Given the description of an element on the screen output the (x, y) to click on. 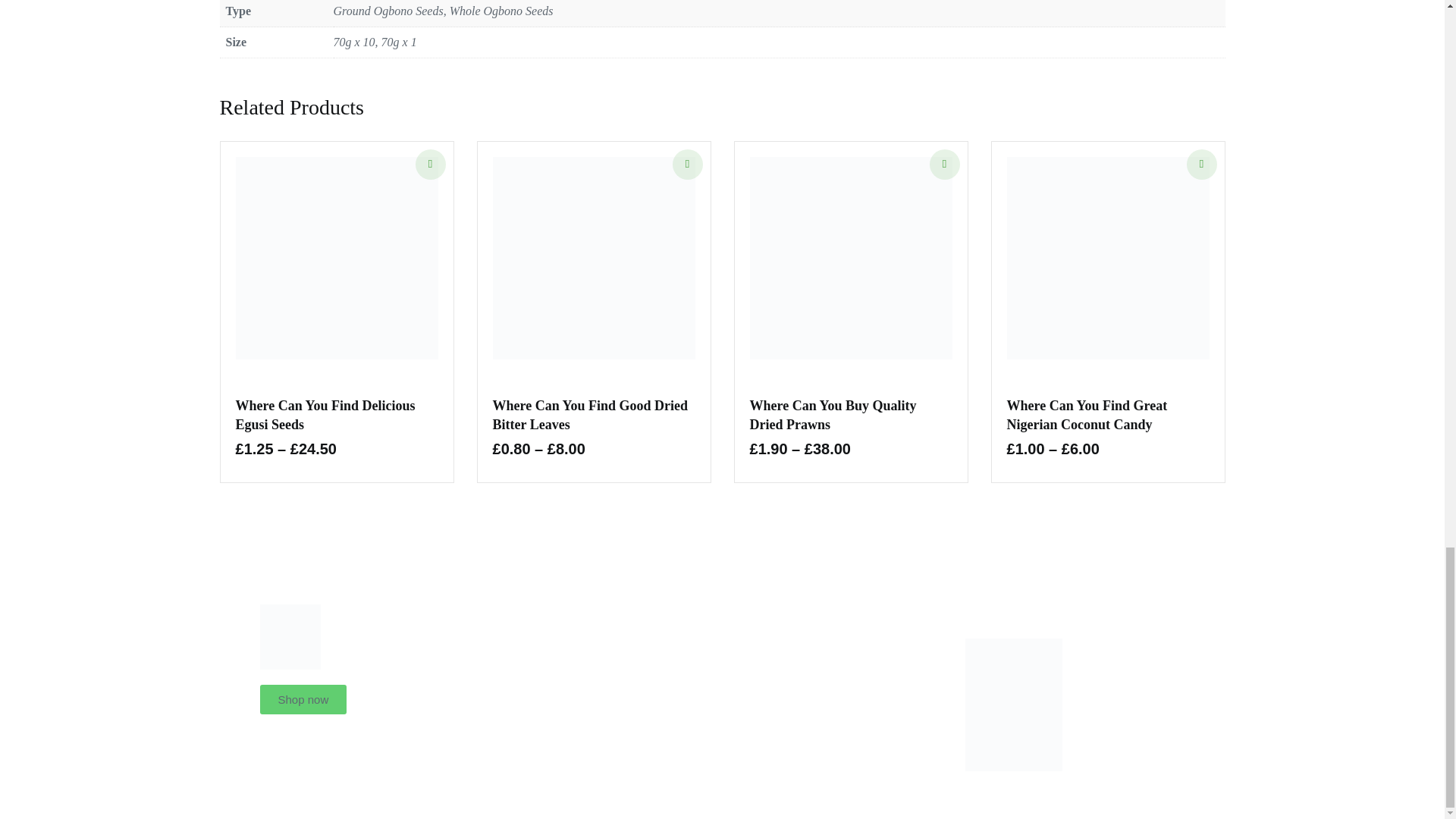
My account (839, 720)
Where Can You Find Delicious Egusi Seeds (324, 415)
About us (839, 669)
Where Can You Buy Quality Dried Prawns (832, 415)
Where Can You Find Great Nigerian Coconut Candy (1087, 415)
Shop now (302, 699)
Privacy policy (839, 695)
White Alademarket Logo (289, 636)
Home African Foods (839, 643)
Where Can You Find Good Dried Bitter Leaves (590, 415)
